Given the description of an element on the screen output the (x, y) to click on. 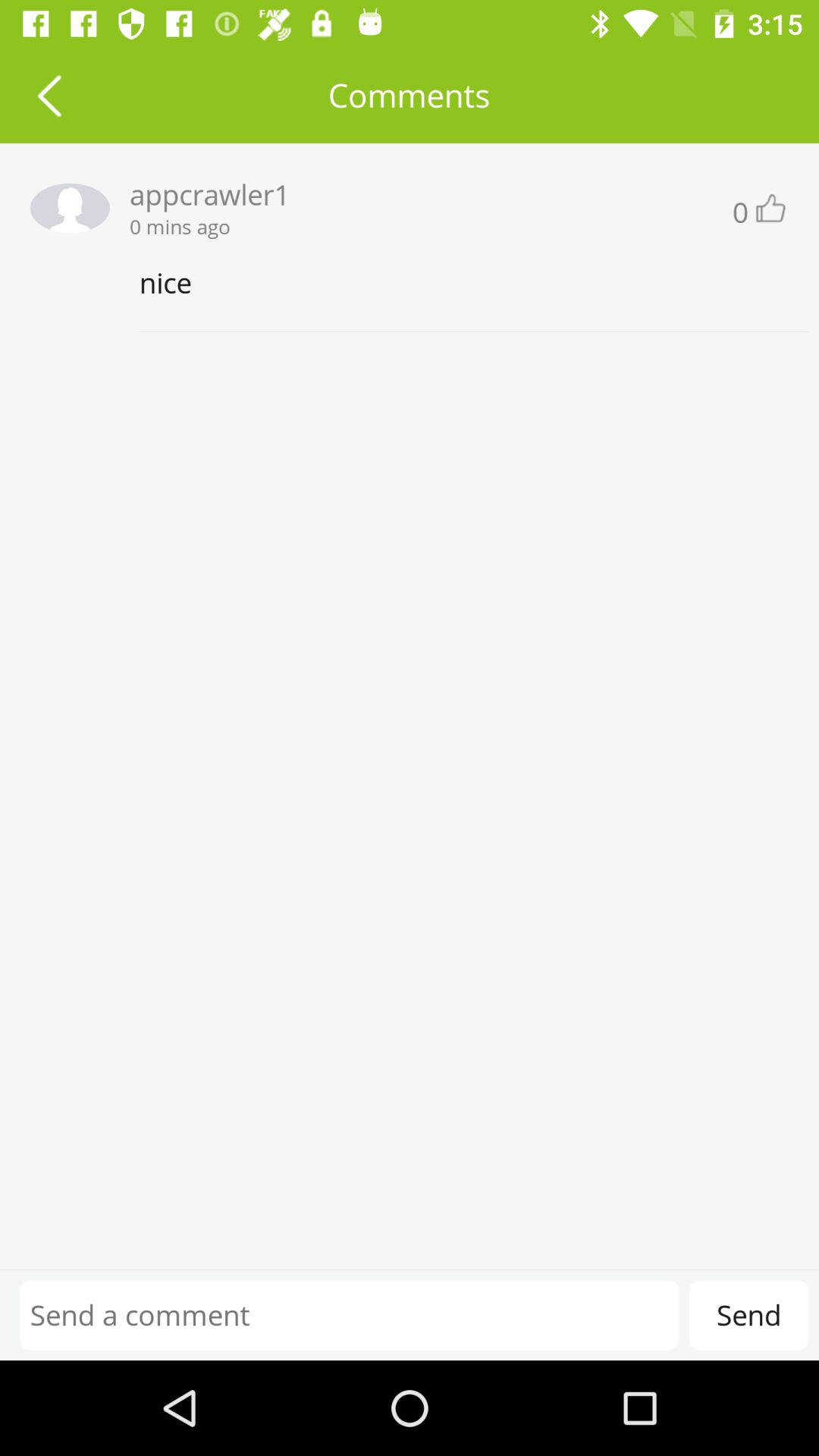
choose send icon (748, 1315)
